Given the description of an element on the screen output the (x, y) to click on. 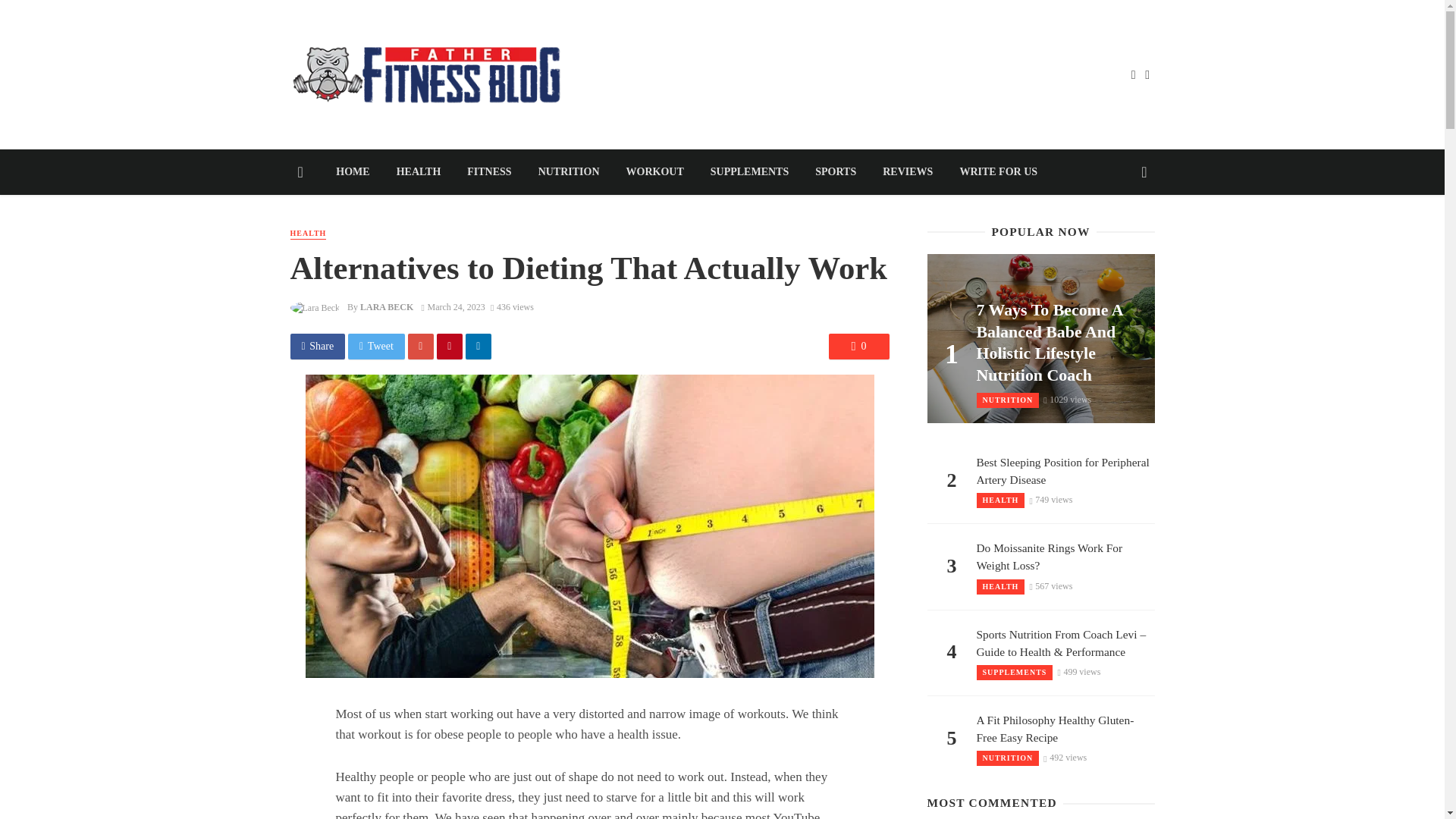
0 Comments (858, 346)
Share on Facebook (317, 346)
Posts by Lara Beck (386, 307)
Share (317, 346)
Tweet (375, 346)
HEALTH (418, 171)
Share on Linkedin (478, 346)
NUTRITION (568, 171)
Share on Twitter (375, 346)
WORKOUT (654, 171)
